Given the description of an element on the screen output the (x, y) to click on. 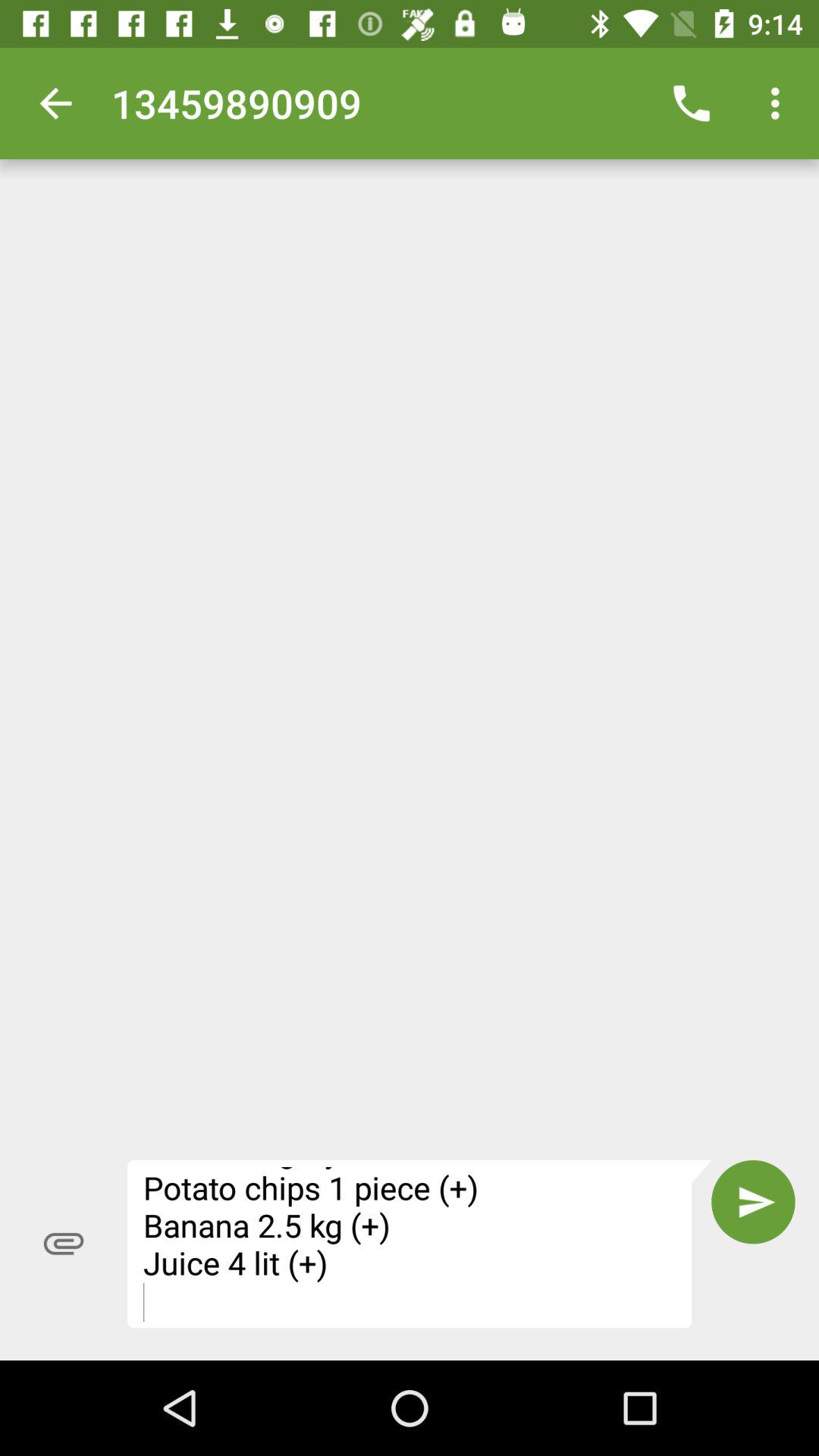
flip until fivefly shopping list icon (419, 1244)
